Given the description of an element on the screen output the (x, y) to click on. 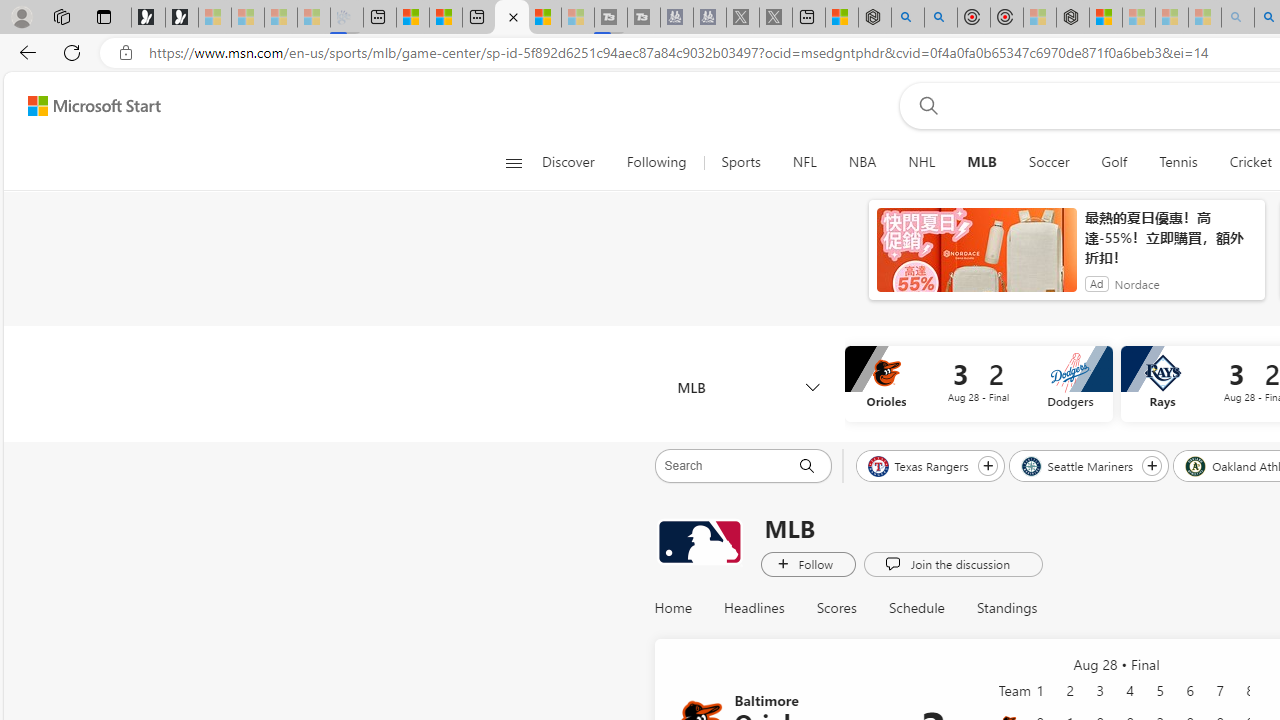
NHL (922, 162)
Soccer (1048, 162)
X - Sleeping (776, 17)
Follow Texas Rangers (987, 465)
Golf (1114, 162)
